Given the description of an element on the screen output the (x, y) to click on. 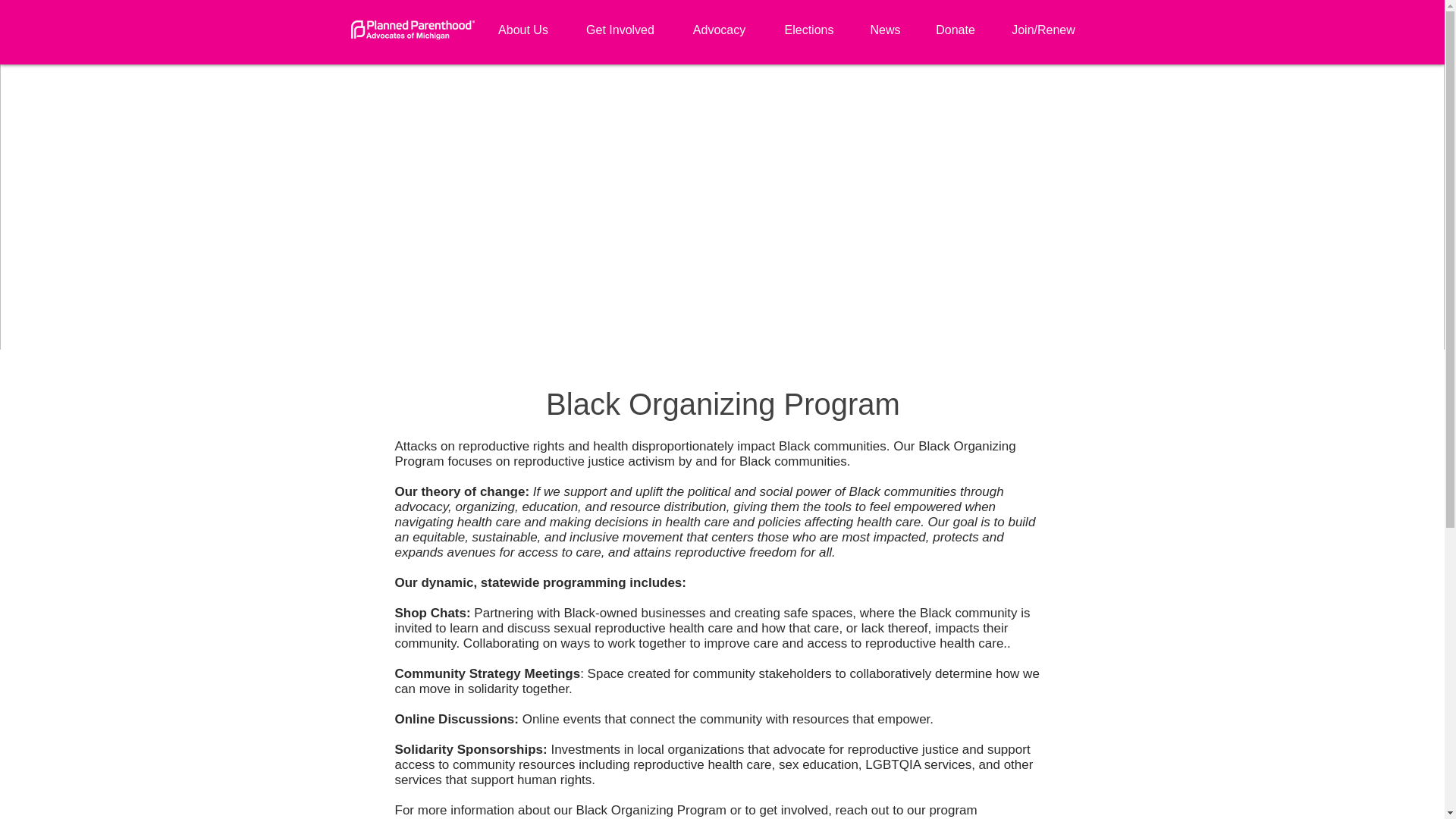
Donate (954, 22)
Advocacy (718, 22)
Get Involved (619, 22)
About Us (523, 22)
News (884, 22)
Elections (809, 22)
